Given the description of an element on the screen output the (x, y) to click on. 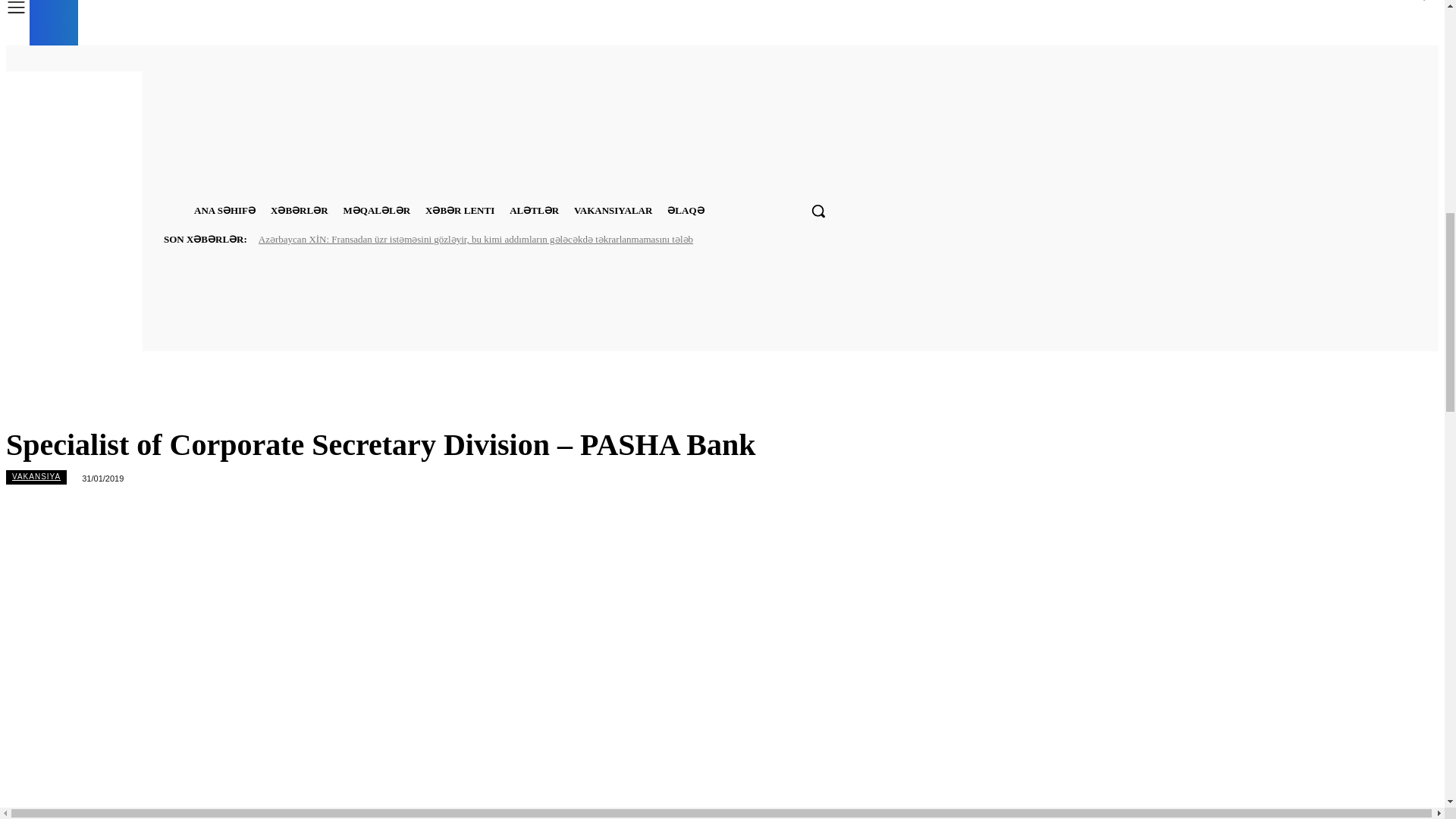
Facebook (753, 57)
